Given the description of an element on the screen output the (x, y) to click on. 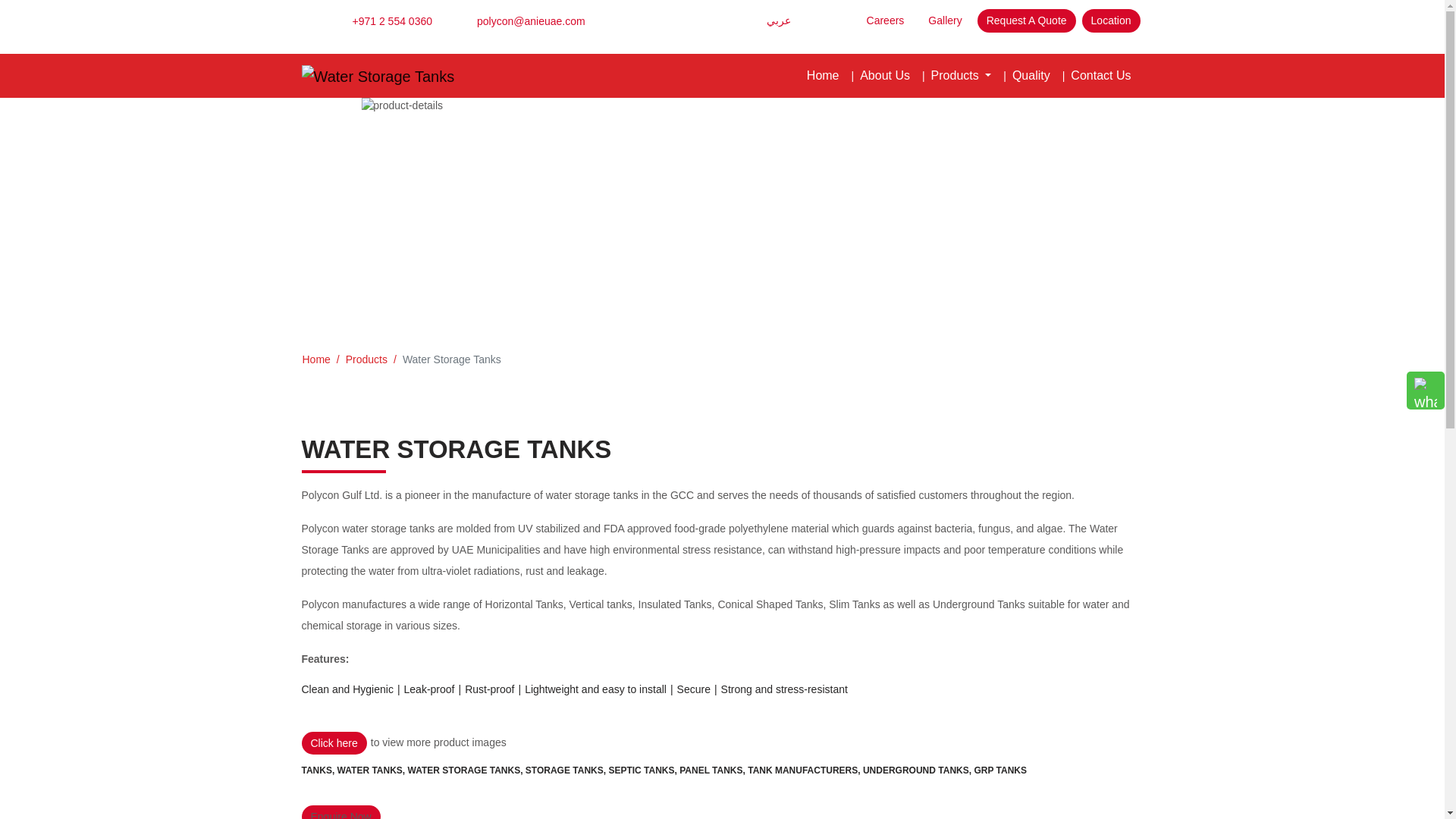
Home (315, 358)
About Us (884, 75)
Products (960, 75)
Location (1110, 20)
Products (366, 358)
Click here (333, 743)
Contact Us (1100, 75)
Quality (1031, 75)
Enquire Now (340, 812)
Request A Quote (1025, 20)
